Given the description of an element on the screen output the (x, y) to click on. 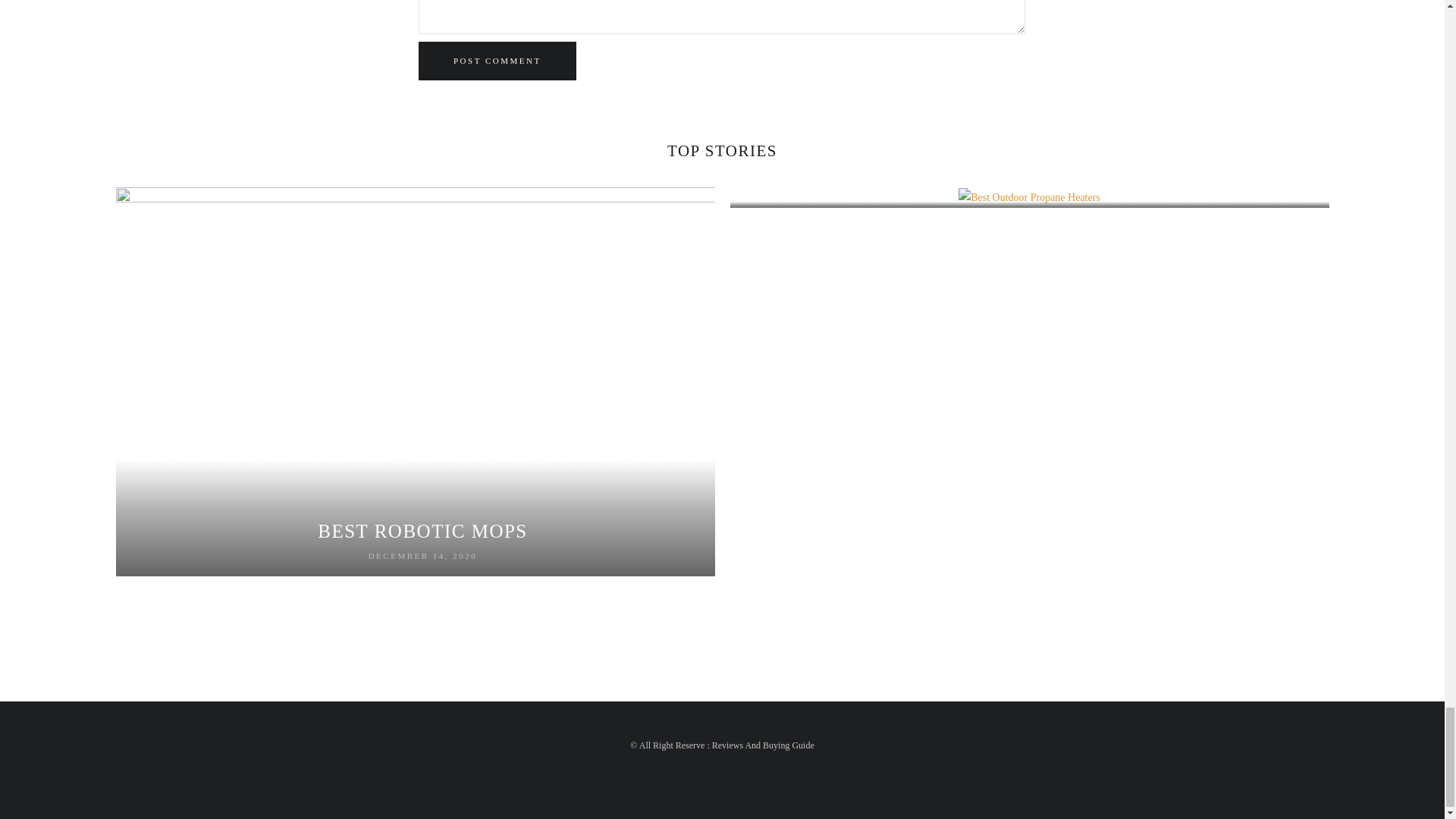
Best Robotic Mops (422, 530)
BEST ROBOTIC MOPS (422, 530)
Post comment (497, 60)
Post comment (497, 60)
